Given the description of an element on the screen output the (x, y) to click on. 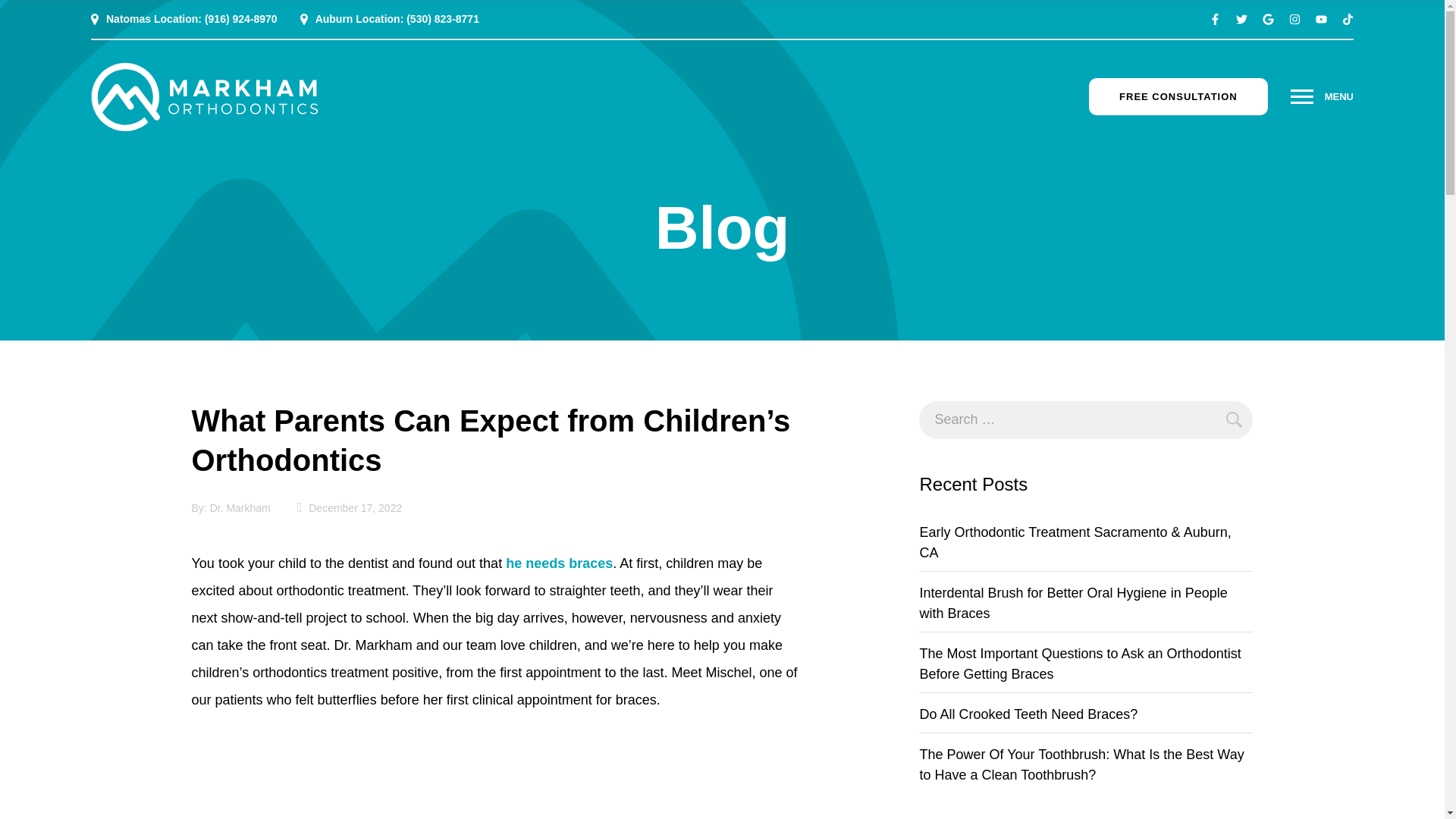
Search (1233, 419)
Search (1233, 419)
